Given the description of an element on the screen output the (x, y) to click on. 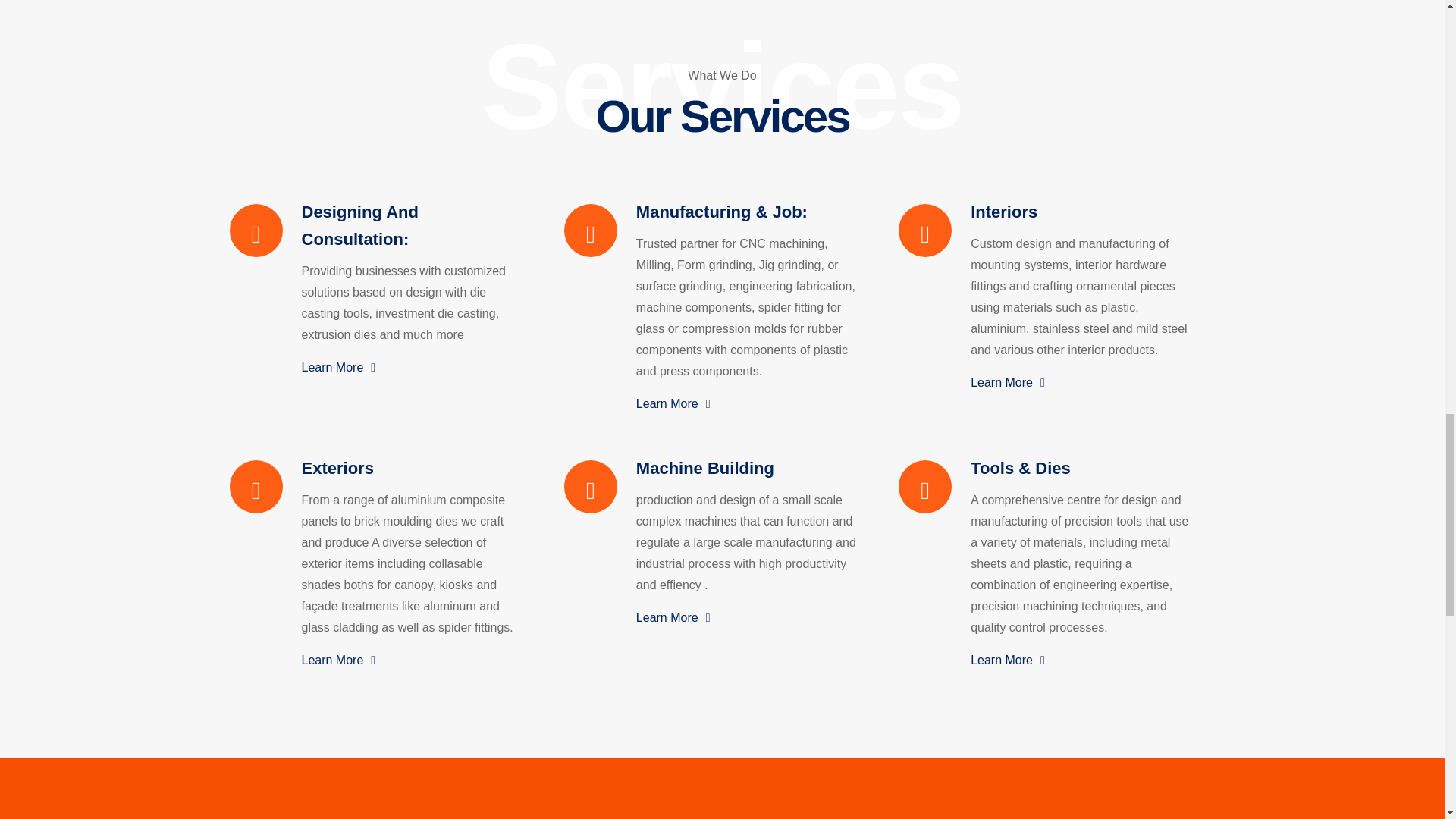
Learn More (1081, 382)
Learn More (1081, 659)
Learn More (411, 659)
Learn More (411, 366)
Learn More (746, 403)
Learn More (746, 617)
